Given the description of an element on the screen output the (x, y) to click on. 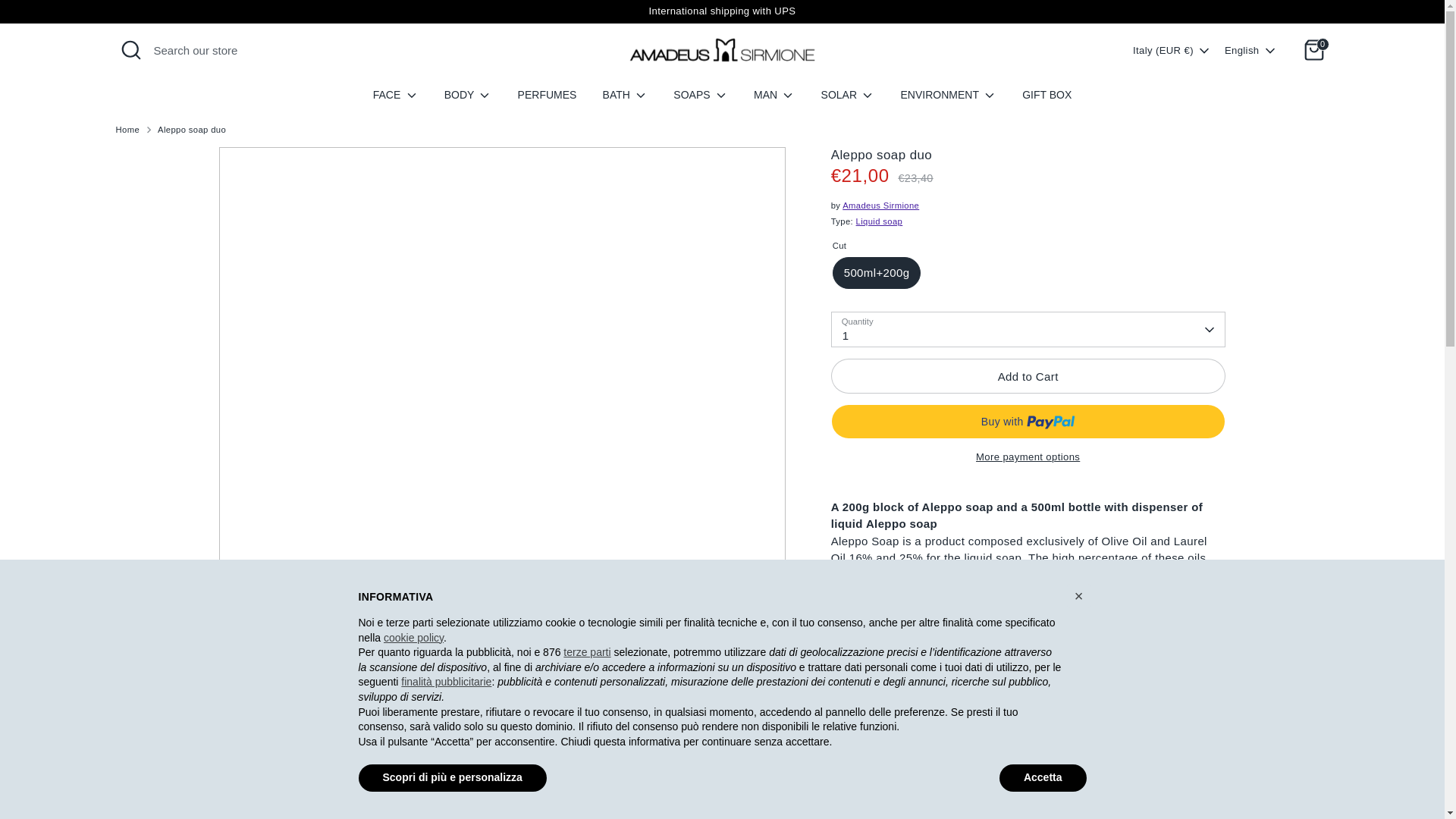
0 (1312, 50)
English (1251, 50)
